Given the description of an element on the screen output the (x, y) to click on. 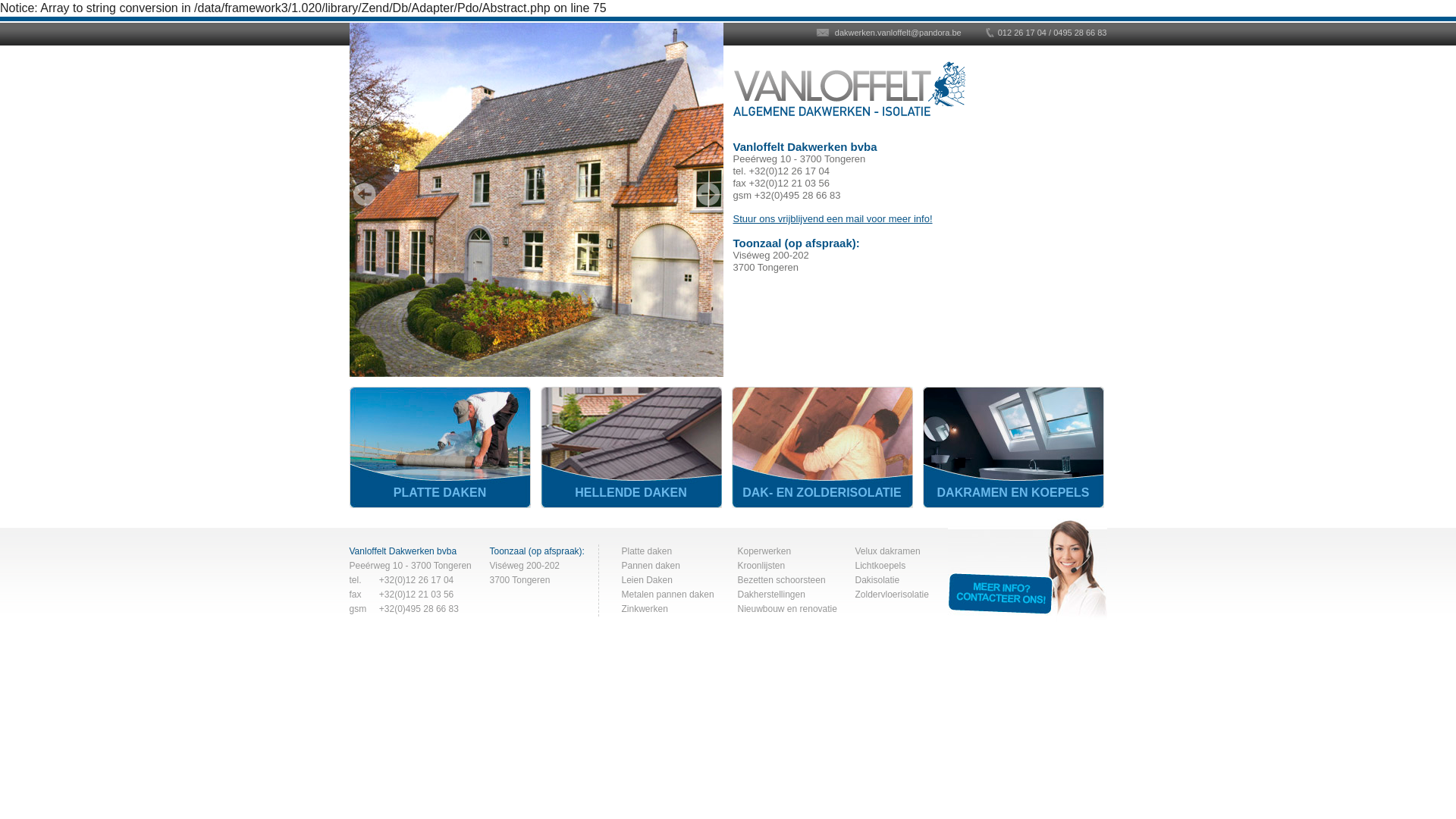
dakwerken.vanloffelt@pandora.be Element type: text (888, 32)
Zoldervloerisolatie Element type: text (891, 594)
Zinkwerken Element type: text (644, 608)
Metalen pannen daken Element type: text (667, 594)
Lichtkoepels Element type: text (880, 565)
Koperwerken Element type: text (763, 551)
Nieuwbouw en renovatie Element type: text (786, 608)
DAK- EN ZOLDERISOLATIE Element type: text (821, 447)
Leien Daken Element type: text (646, 579)
Stuur ons vrijblijvend een mail voor meer info! Element type: text (831, 218)
Kroonlijsten Element type: text (760, 565)
Dakherstellingen Element type: text (770, 594)
Bezetten schoorsteen Element type: text (781, 579)
DAKRAMEN EN KOEPELS Element type: text (1012, 447)
Platte daken Element type: text (646, 551)
Velux dakramen Element type: text (887, 551)
Vanloffelt - Algemene Dakwerken - Isolatie Element type: hover (848, 90)
HELLENDE DAKEN Element type: text (630, 447)
        Element type: text (707, 193)
        Element type: text (364, 193)
Pannen daken Element type: text (650, 565)
Dakisolatie Element type: text (877, 579)
PLATTE DAKEN Element type: text (439, 447)
